Given the description of an element on the screen output the (x, y) to click on. 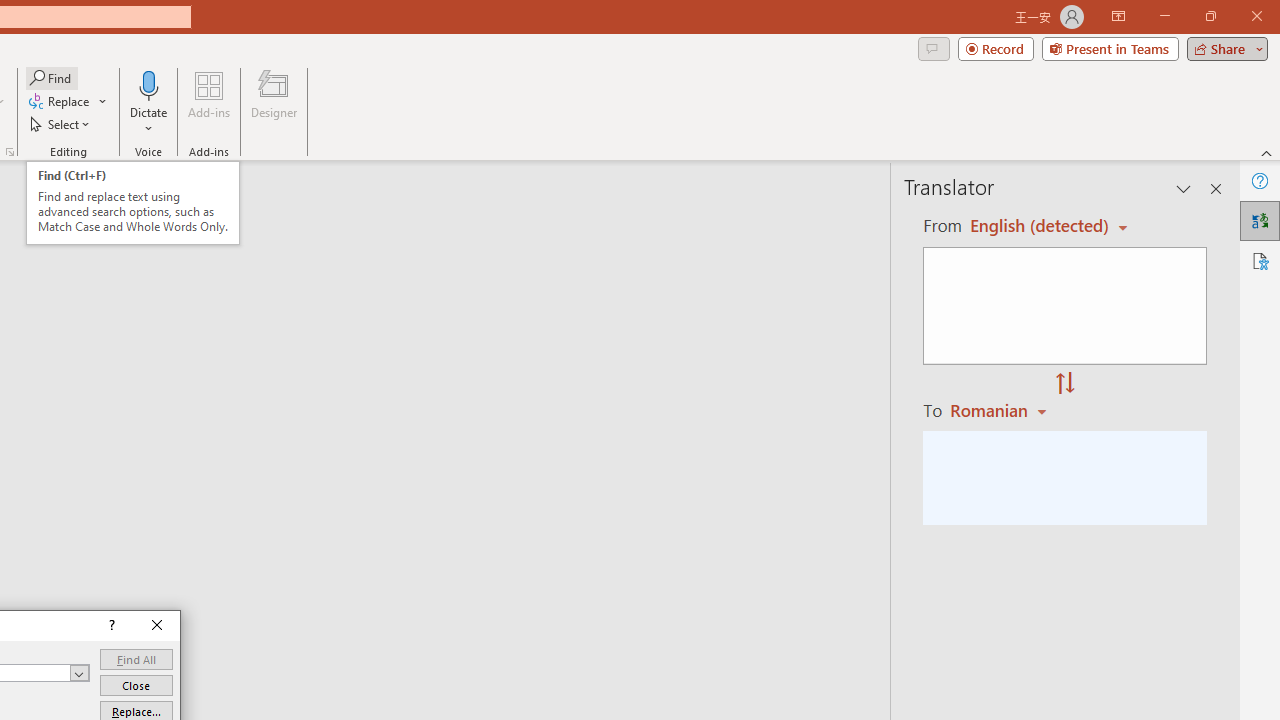
Romanian (1001, 409)
